Given the description of an element on the screen output the (x, y) to click on. 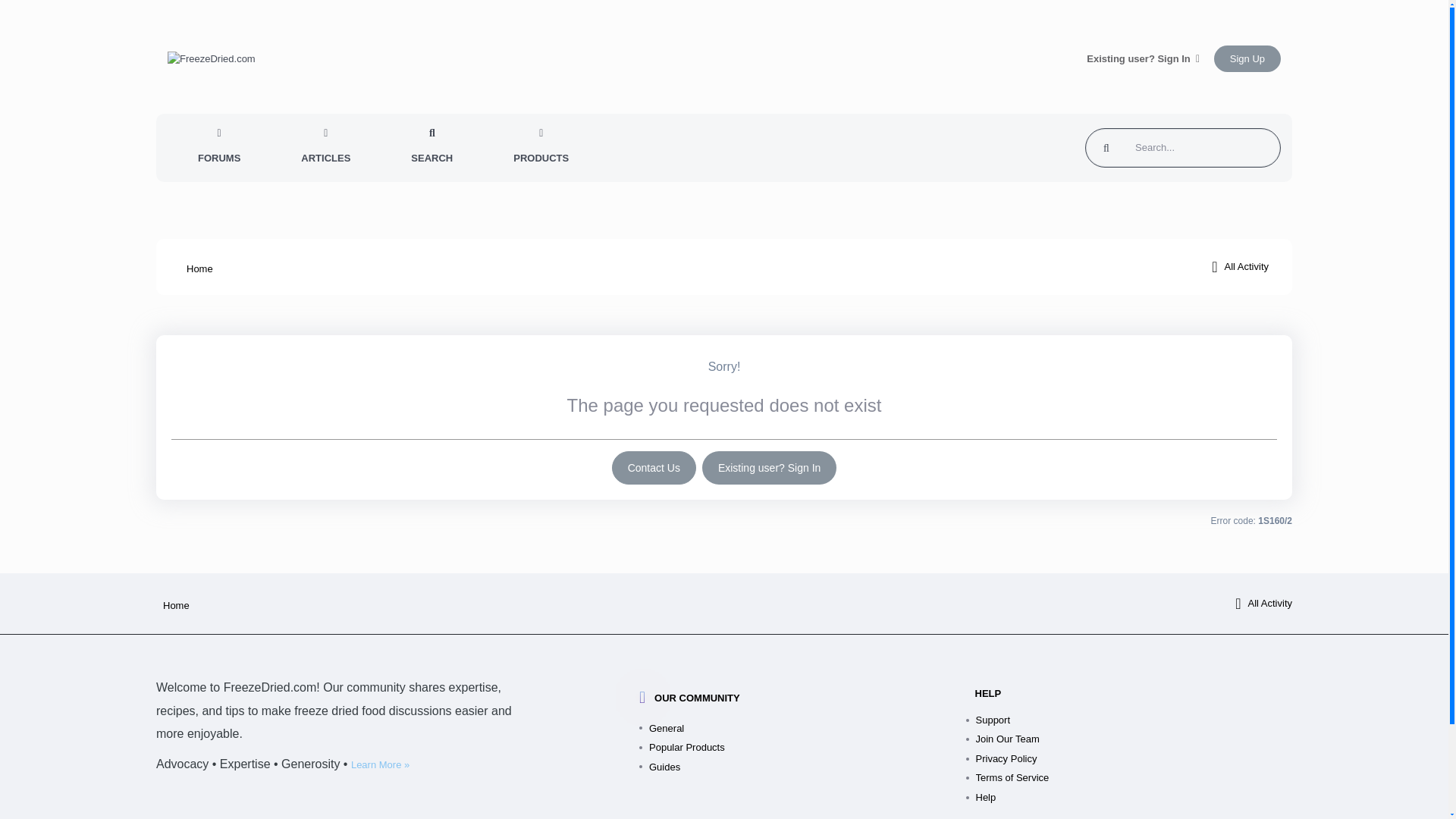
Popular Products (807, 747)
Terms of Service (1133, 777)
Join Our Team (1133, 739)
Contact Us (653, 467)
Existing user? Sign In (768, 467)
Home (172, 604)
Home (172, 604)
Home (195, 267)
General (807, 728)
Existing user? Sign In (768, 467)
All Activity (1239, 266)
Existing user? Sign In   (1142, 58)
Privacy Policy (1133, 759)
Contact Us (653, 467)
All Activity (1263, 603)
